Given the description of an element on the screen output the (x, y) to click on. 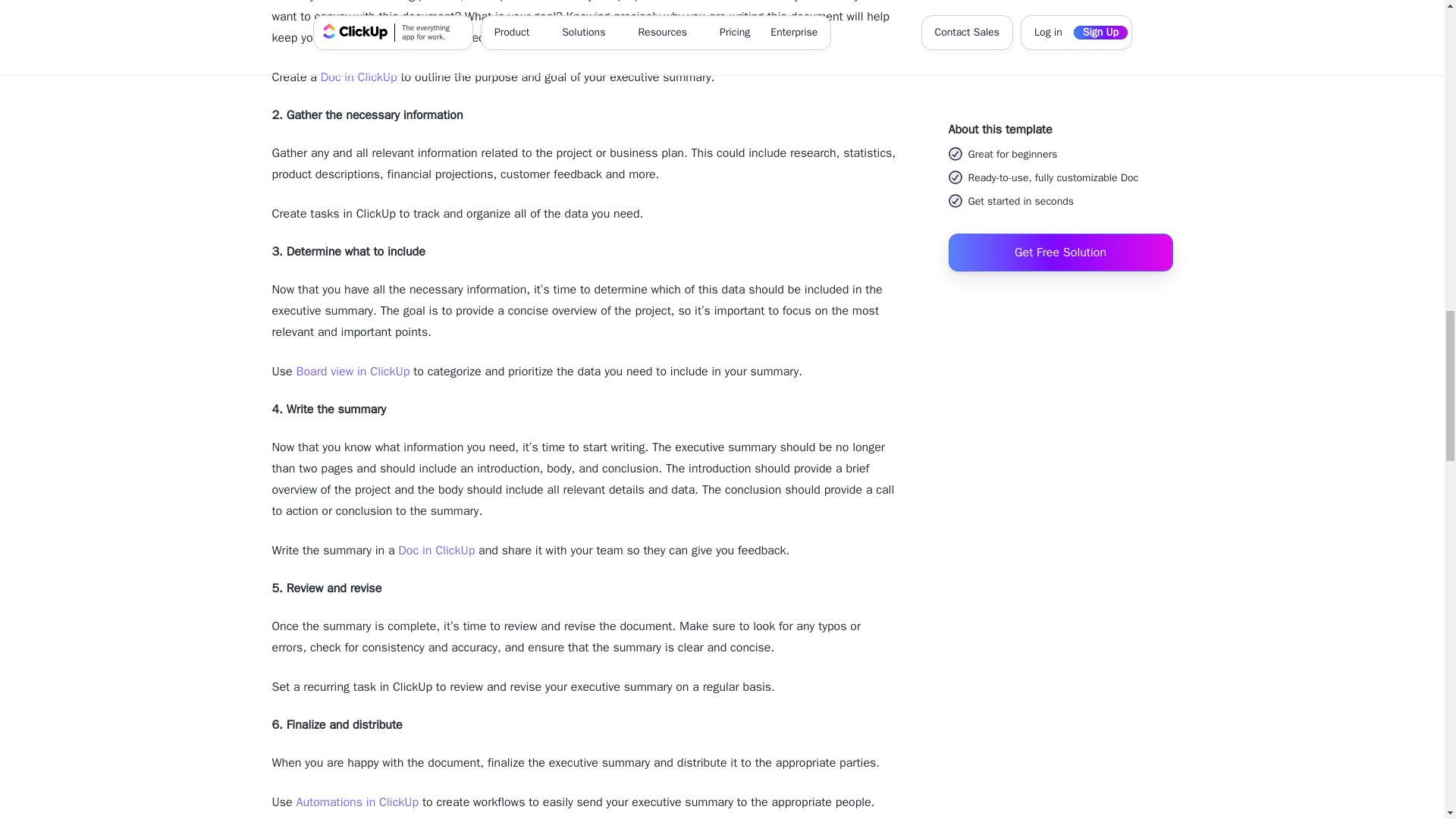
Doc in ClickUp (358, 77)
Automations in ClickUp (357, 801)
Doc in ClickUp (435, 549)
Board view in ClickUp (352, 371)
